Given the description of an element on the screen output the (x, y) to click on. 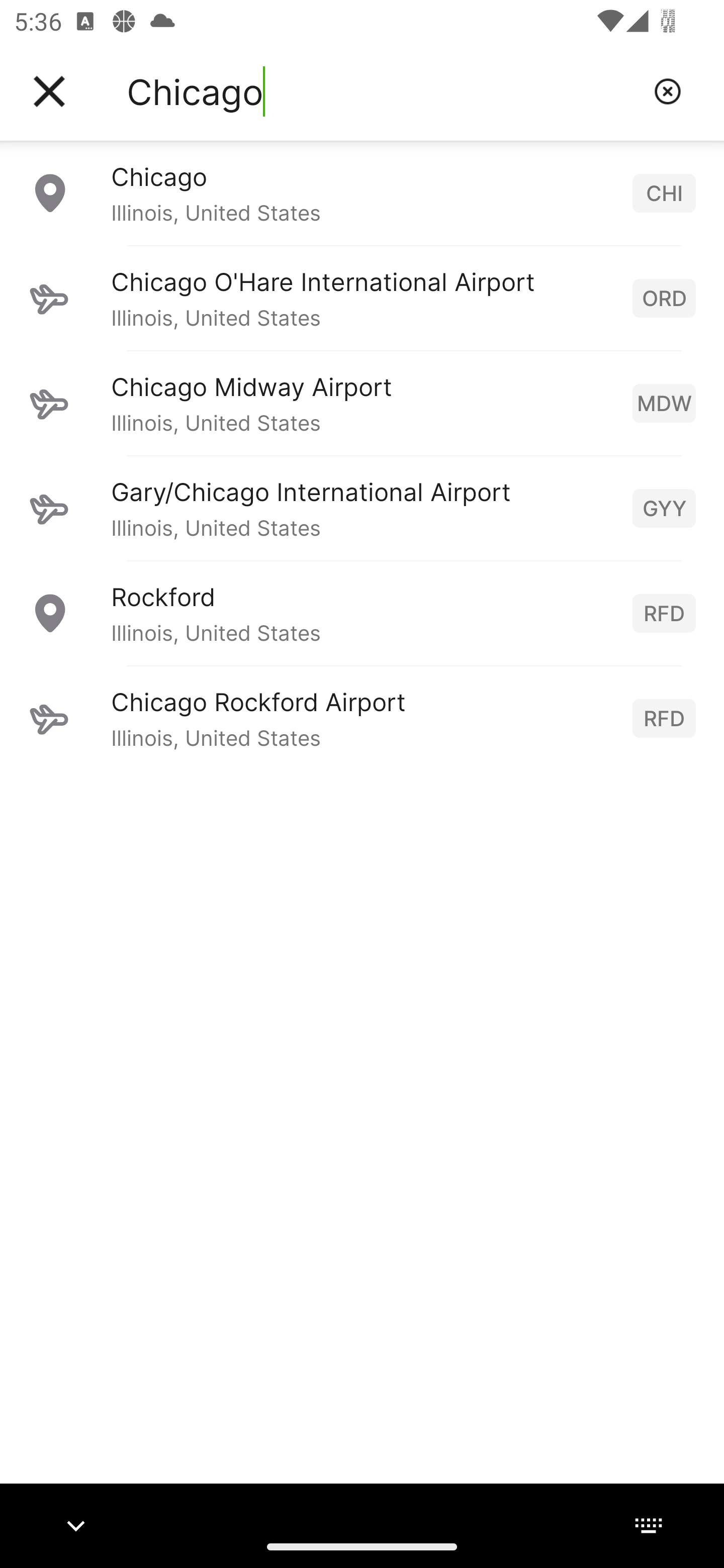
Chicago (382, 91)
Chicago Illinois, United States CHI (362, 192)
Chicago Midway Airport Illinois, United States MDW (362, 402)
Rockford Illinois, United States RFD (362, 612)
